Given the description of an element on the screen output the (x, y) to click on. 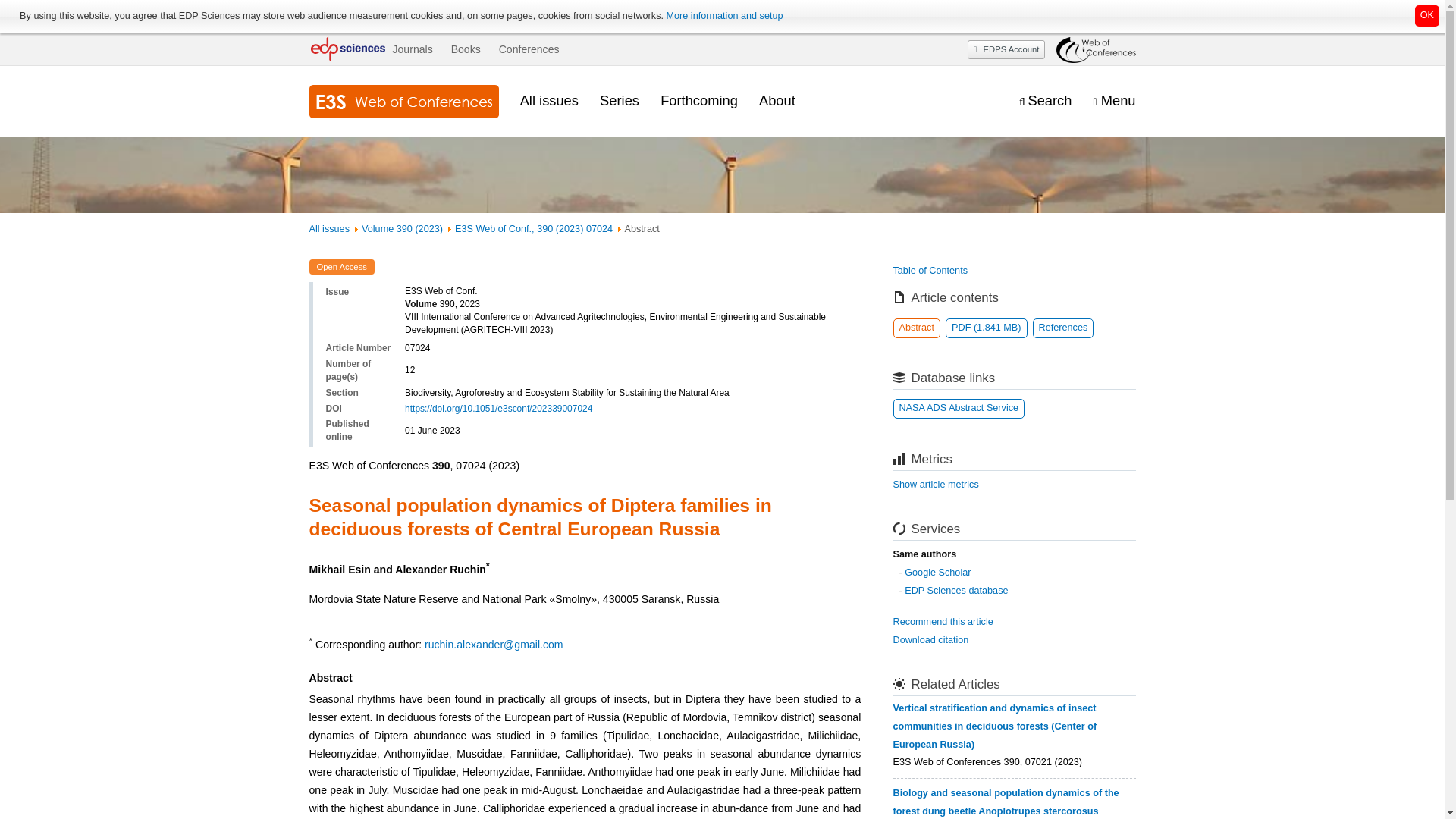
Display the search engine (1045, 101)
Conferences (529, 49)
Journals (411, 49)
OK (1427, 15)
Journal homepage (403, 101)
Abstract (916, 328)
More information and setup (724, 15)
Click to close this notification (1427, 15)
Books (465, 49)
